Given the description of an element on the screen output the (x, y) to click on. 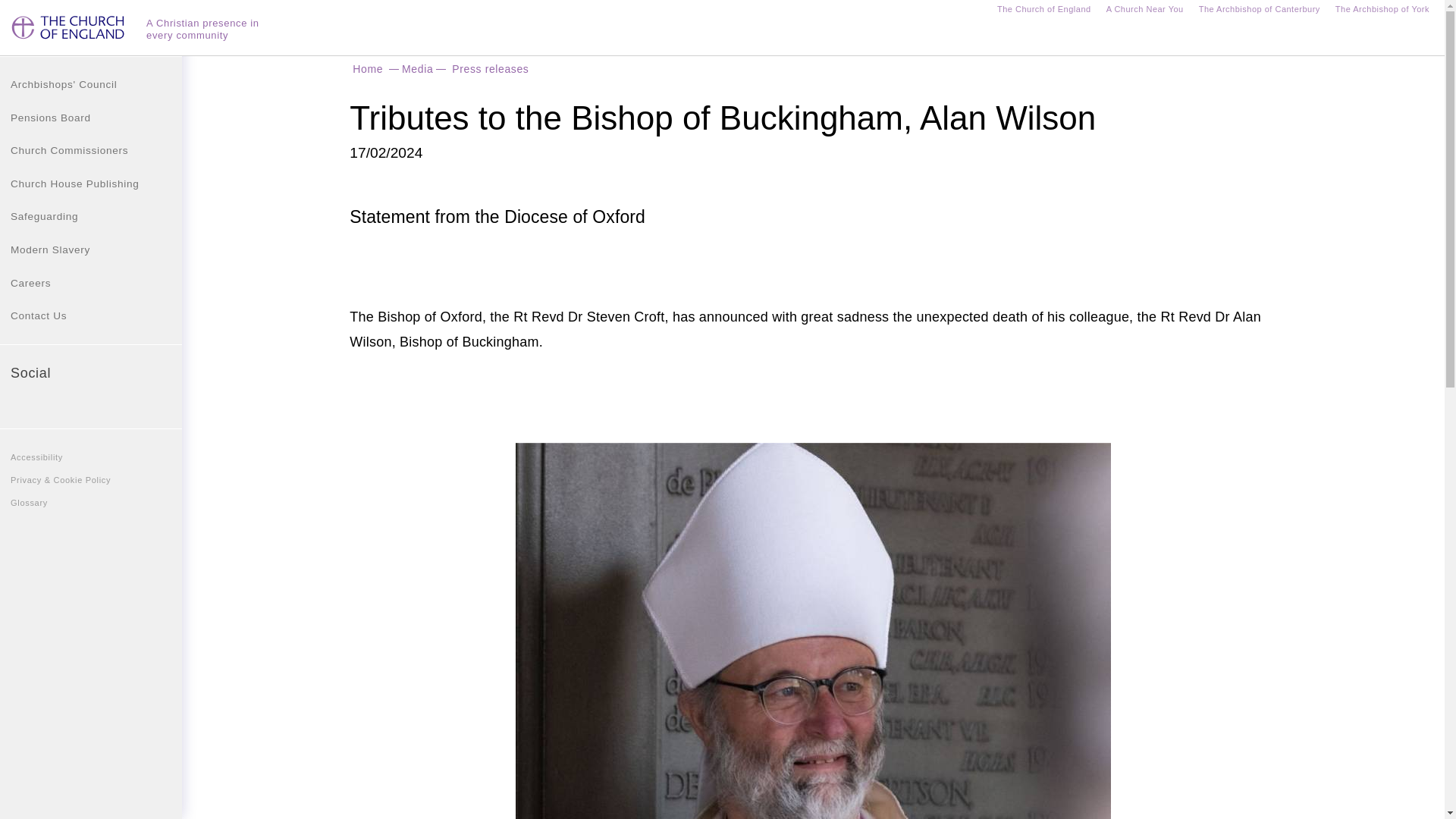
Home (367, 68)
Careers (91, 283)
The Archbishop of Canterbury (1259, 10)
Church House Publishing (91, 183)
Church Commissioners (91, 150)
Archbishops' Council (91, 84)
Safeguarding  (91, 216)
Modern Slavery (91, 249)
A Church Near You (1144, 10)
Home (69, 33)
Press releases (489, 68)
Accessibility (91, 456)
Accessibility (91, 456)
Safeguarding (91, 216)
